Given the description of an element on the screen output the (x, y) to click on. 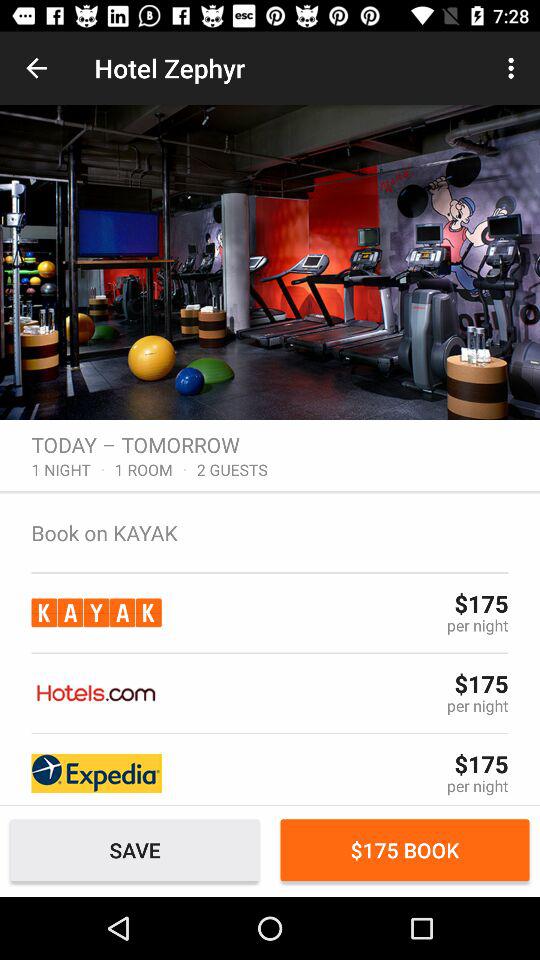
open the item to the right of hotel zephyr item (513, 67)
